Given the description of an element on the screen output the (x, y) to click on. 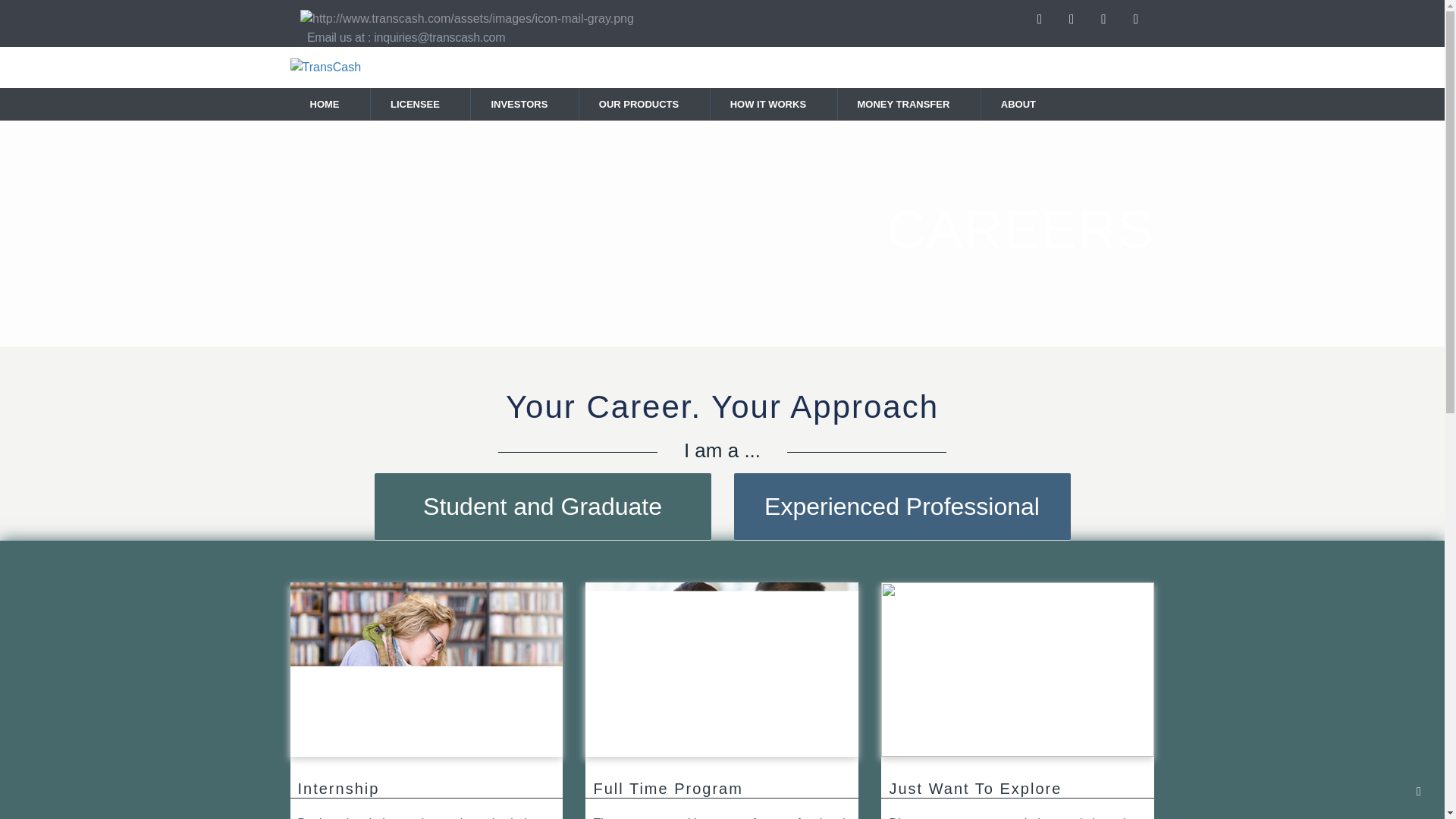
HOW IT WORKS (771, 104)
LICENSEE (419, 104)
HOME (327, 104)
TransCash (325, 67)
MONEY TRANSFER (907, 104)
ABOUT (1021, 104)
INVESTORS (522, 104)
OUR PRODUCTS (642, 104)
